Given the description of an element on the screen output the (x, y) to click on. 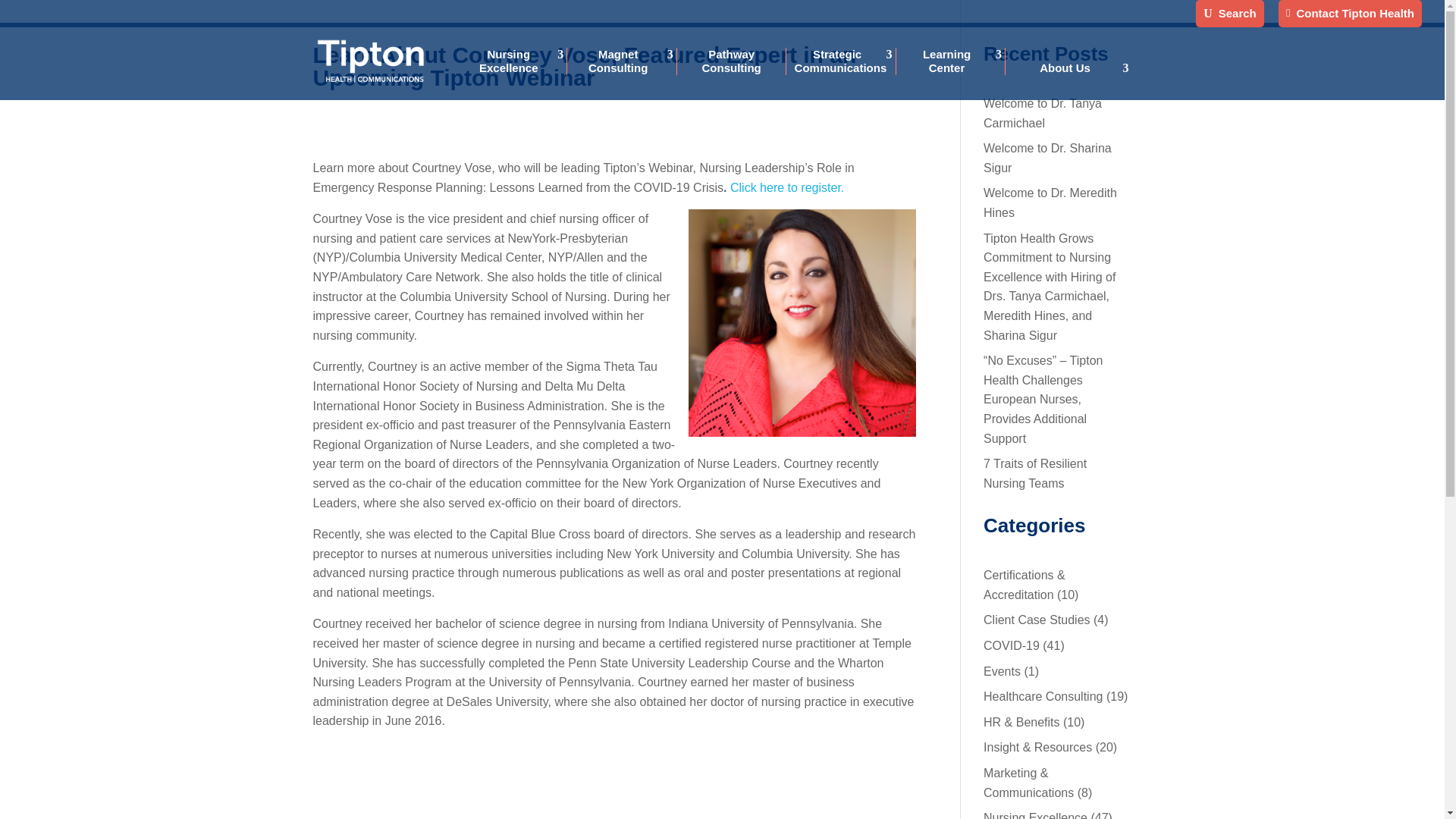
Contact Tipton Health (1349, 17)
About Us (1072, 68)
Nursing Excellence (516, 61)
Strategic Communications (845, 61)
Search (1230, 17)
Learning Center (955, 61)
Pathway Consulting (735, 61)
Magnet Consulting (626, 61)
